Given the description of an element on the screen output the (x, y) to click on. 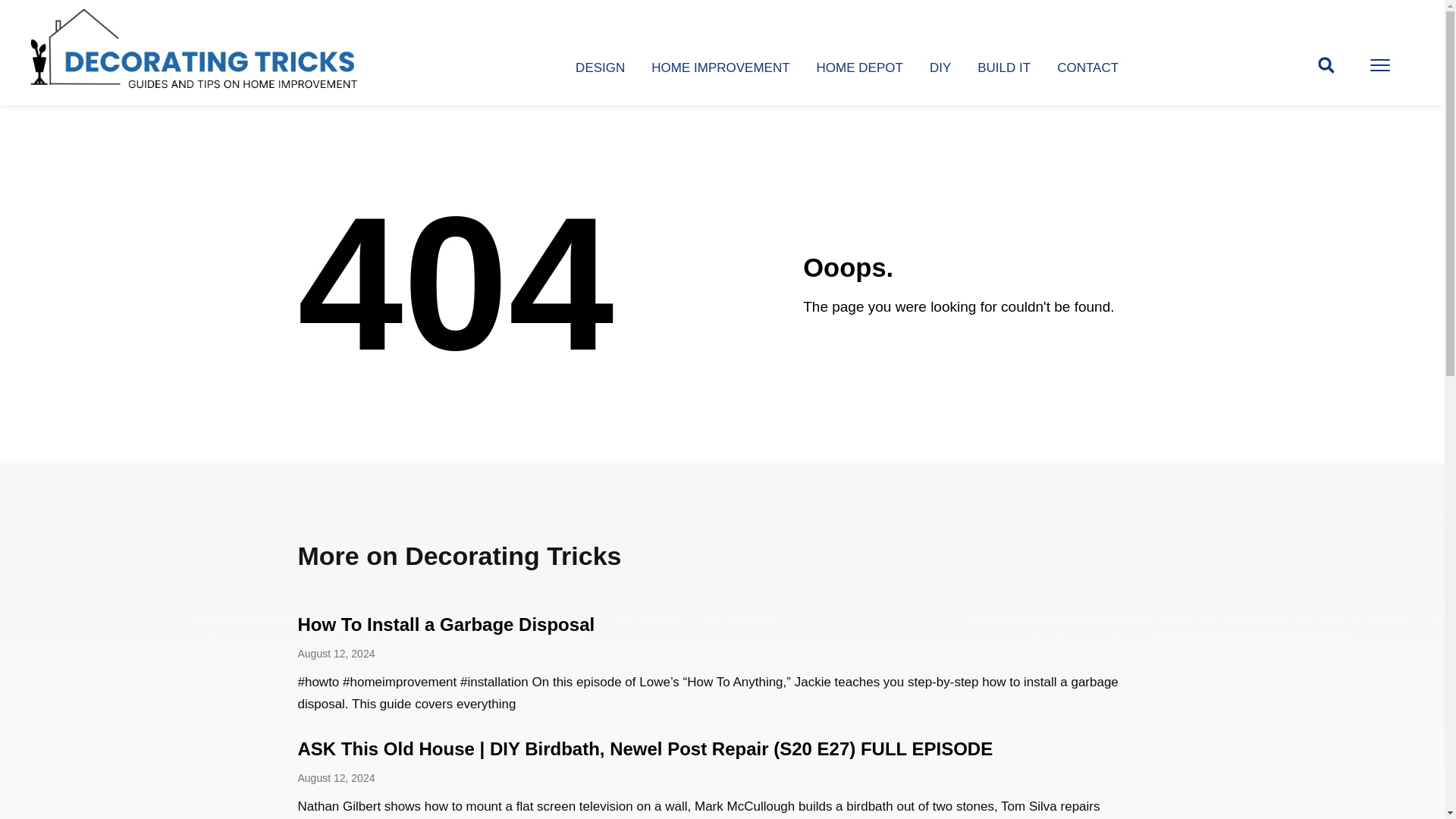
BUILD IT (1003, 67)
CONTACT (1087, 67)
HOME IMPROVEMENT (719, 67)
HOME DEPOT (859, 67)
DESIGN (599, 67)
How To Install a Garbage Disposal (445, 624)
